Given the description of an element on the screen output the (x, y) to click on. 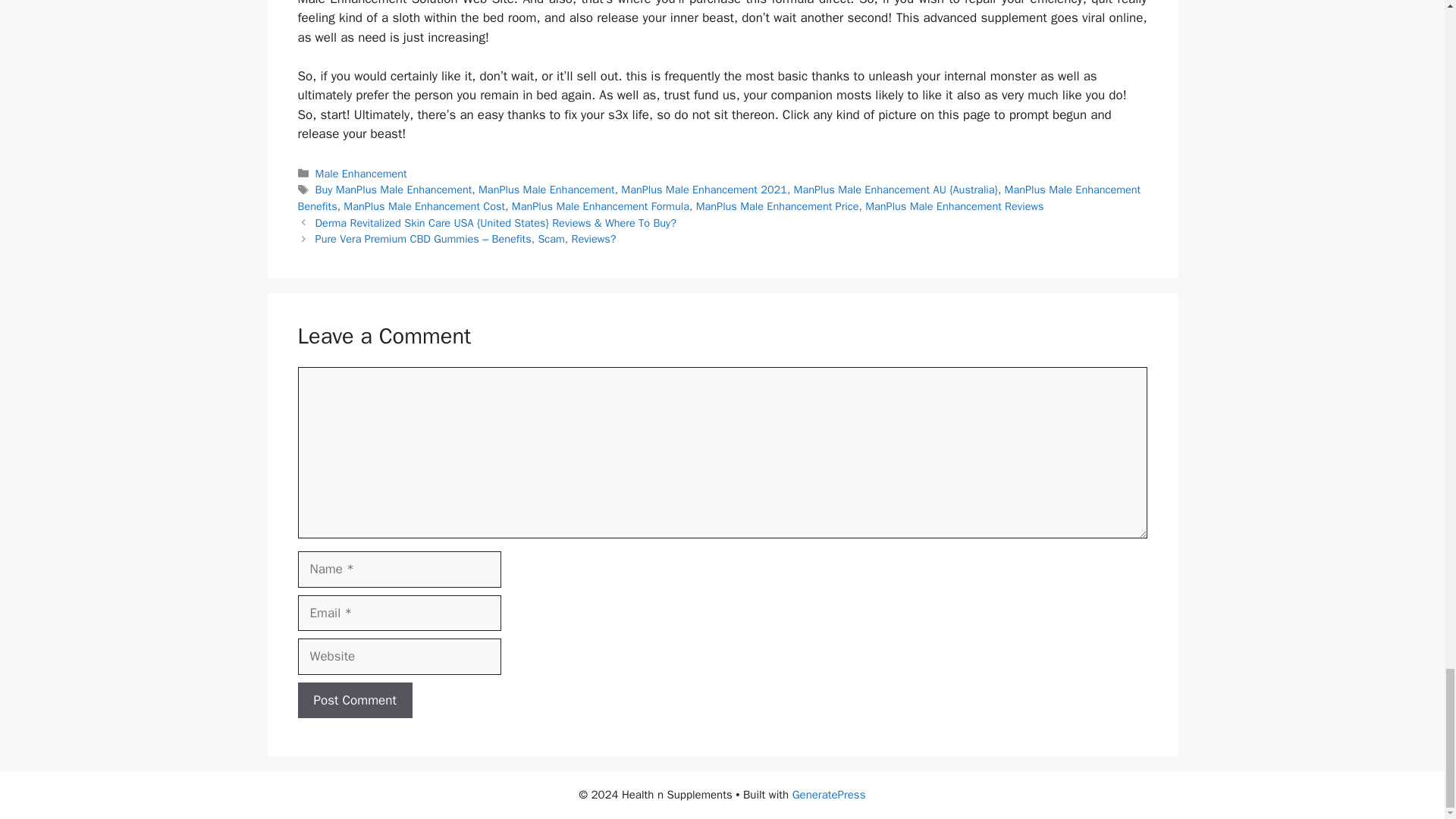
Post Comment (354, 700)
GeneratePress (829, 794)
ManPlus Male Enhancement (546, 189)
ManPlus Male Enhancement 2021 (704, 189)
Male Enhancement (361, 173)
Buy ManPlus Male Enhancement (393, 189)
ManPlus Male Enhancement Reviews (953, 205)
Post Comment (354, 700)
ManPlus Male Enhancement Price (777, 205)
ManPlus Male Enhancement Benefits (718, 197)
